Given the description of an element on the screen output the (x, y) to click on. 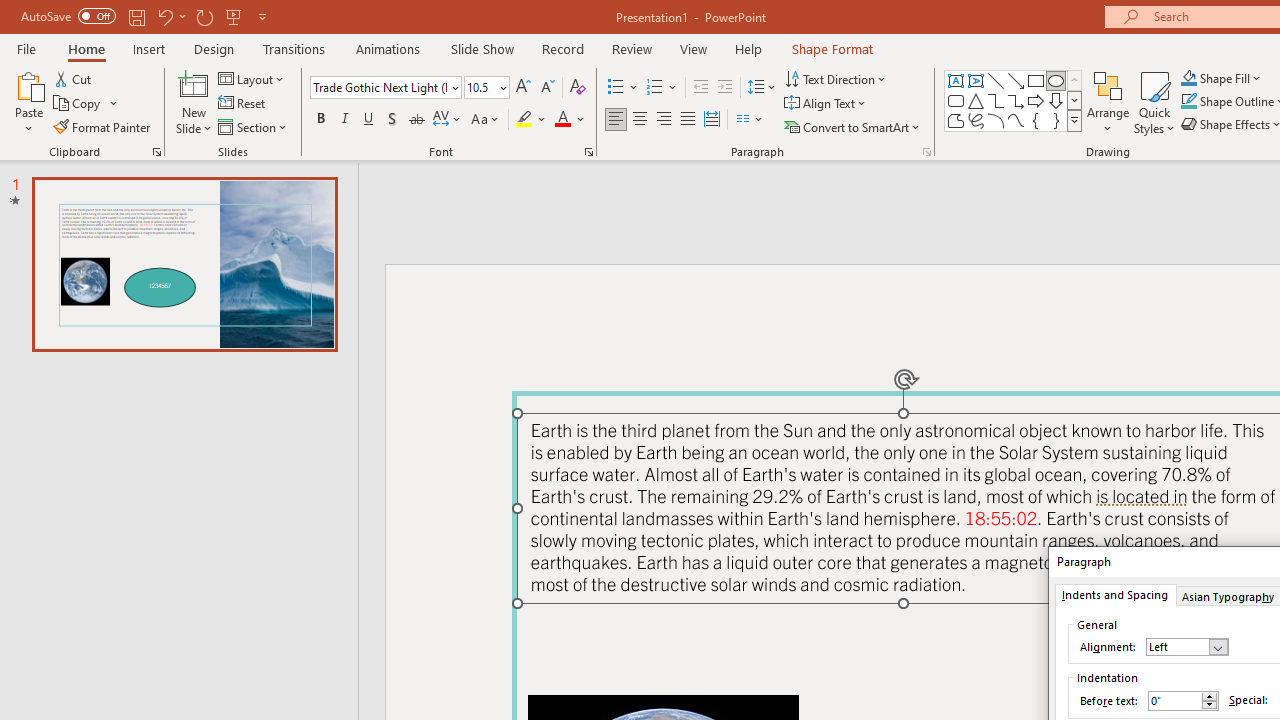
Alignment (1186, 646)
Shape Outline Teal, Accent 1 (1188, 101)
Before text (1183, 701)
